Given the description of an element on the screen output the (x, y) to click on. 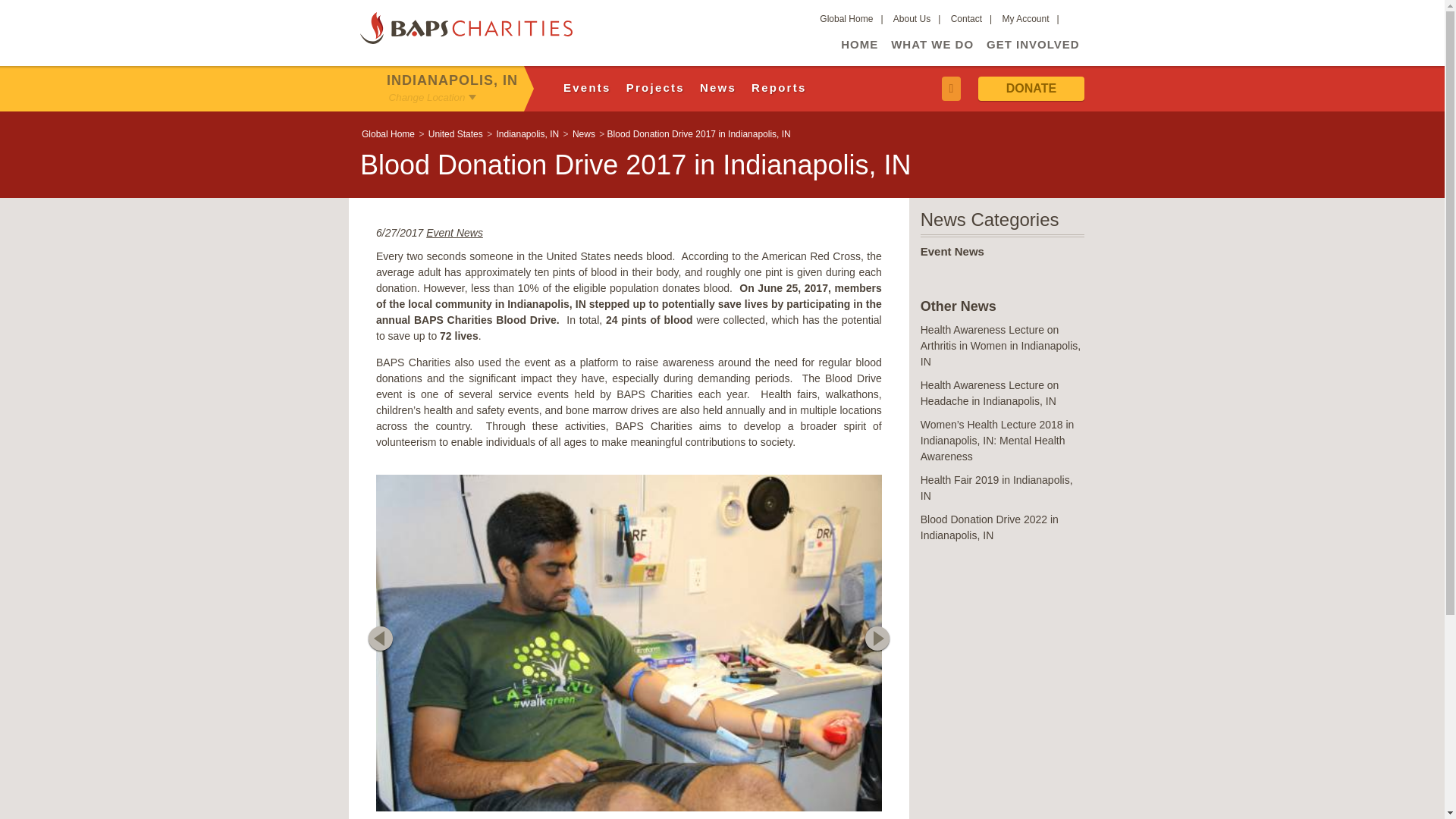
GET INVOLVED (1032, 44)
Projects (655, 86)
Events (587, 86)
DONATE (1031, 87)
HOME (859, 44)
About Us (911, 18)
My Account (1026, 18)
INDIANAPOLIS, IN (452, 77)
Contact (965, 18)
News (718, 86)
Reports (778, 86)
WHAT WE DO (932, 44)
Change Location (427, 99)
Global Home (845, 18)
